Given the description of an element on the screen output the (x, y) to click on. 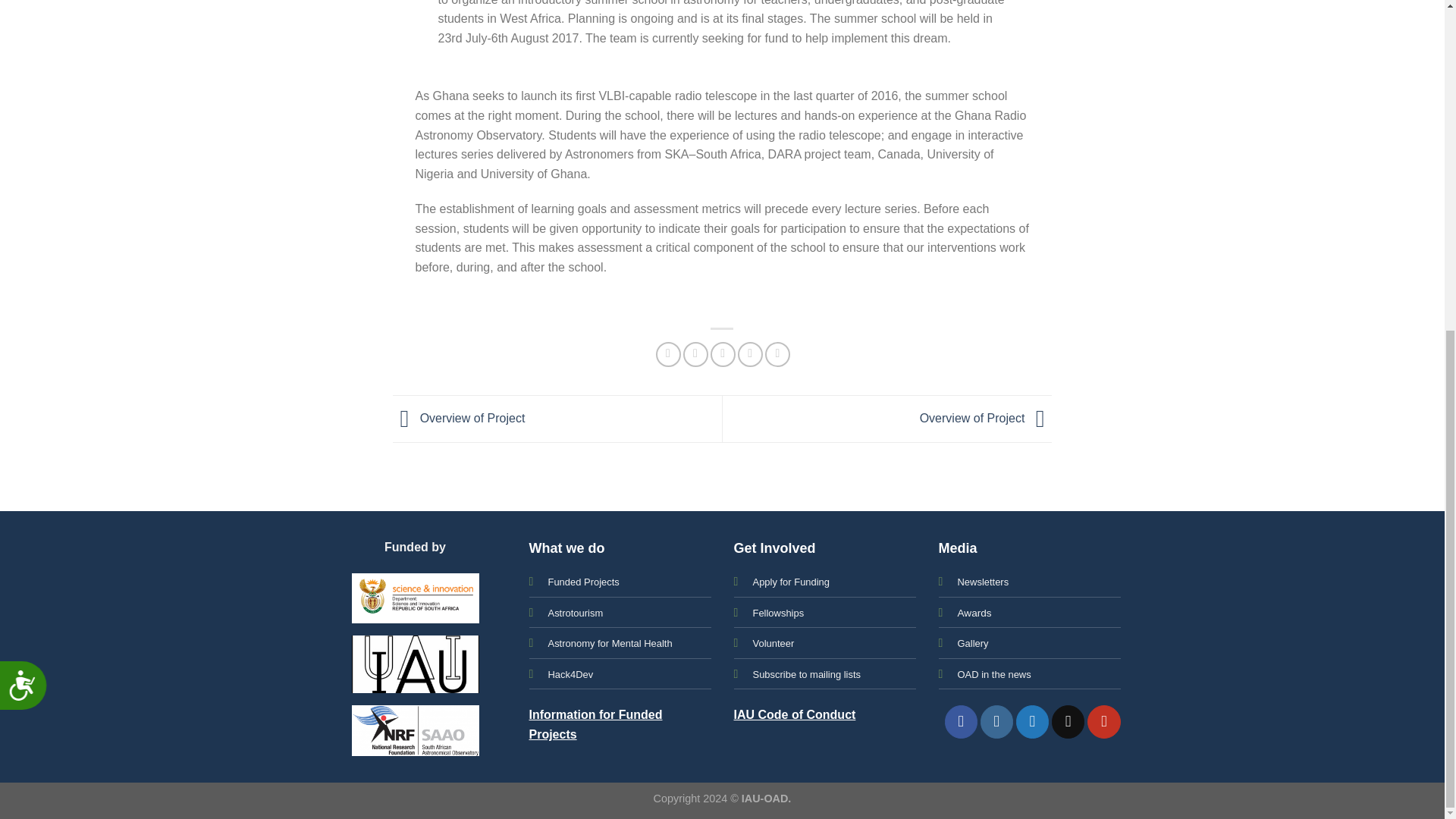
Follow on Twitter (1032, 721)
Send us an email (1067, 721)
Share on Facebook (668, 354)
Page 2 (721, 43)
Share on LinkedIn (777, 354)
ACCESSIBILITY (29, 142)
Share on Twitter (694, 354)
Follow on Facebook (960, 721)
Follow on YouTube (1103, 721)
